Given the description of an element on the screen output the (x, y) to click on. 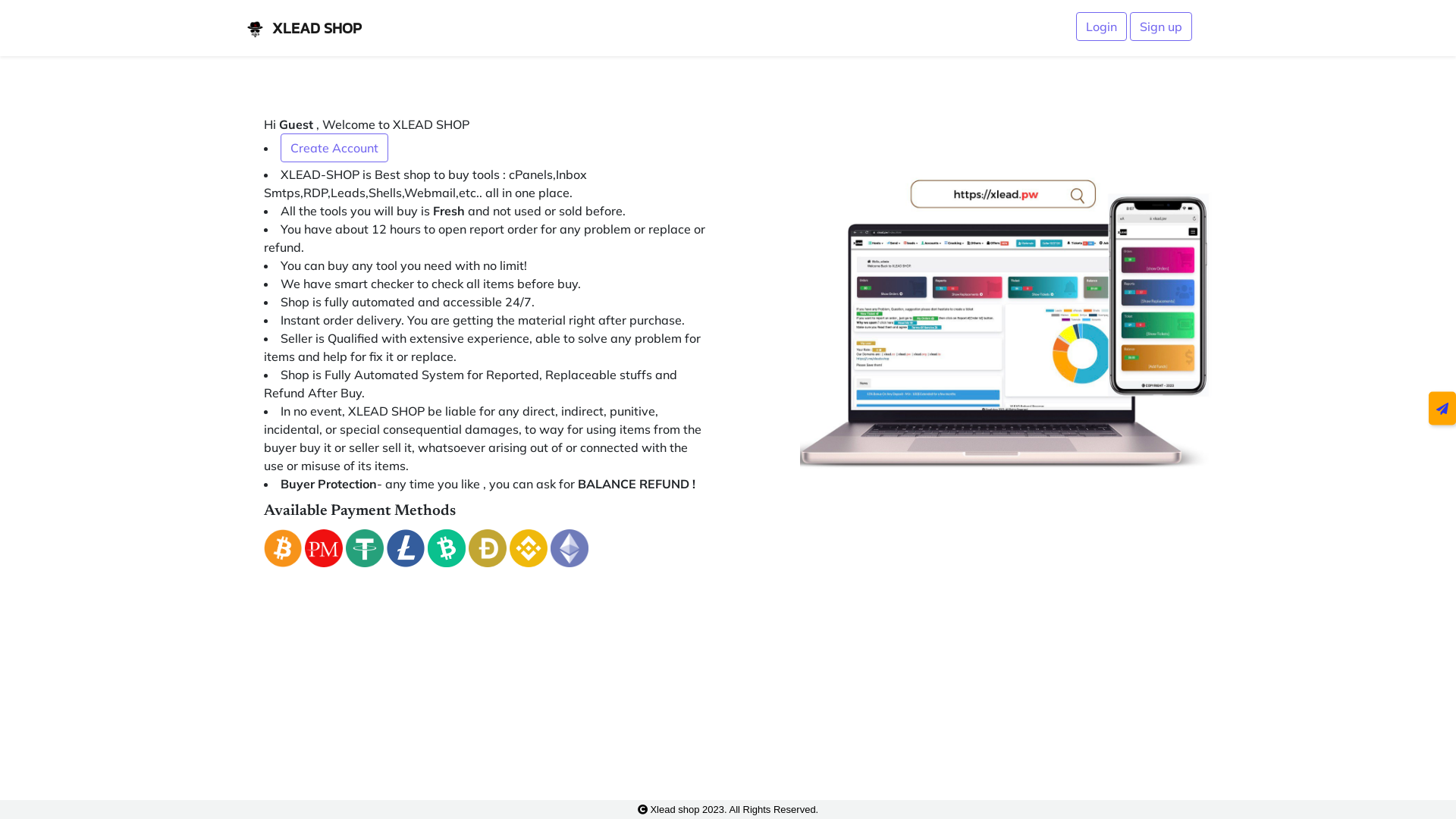
Create Account Element type: text (334, 147)
Sign up Element type: text (1160, 26)
LTC Element type: hover (405, 548)
USDT TRC20 Element type: hover (364, 548)
BNBBINANCE Element type: hover (528, 548)
Login Element type: text (1101, 26)
BitcoinCash Element type: hover (446, 548)
 XLEAD SHOP Element type: text (303, 27)
Bitcoin Element type: hover (282, 548)
Ethereum Element type: hover (569, 548)
Perfectmoney Element type: hover (323, 548)
Dogecoin Element type: hover (487, 548)
